Given the description of an element on the screen output the (x, y) to click on. 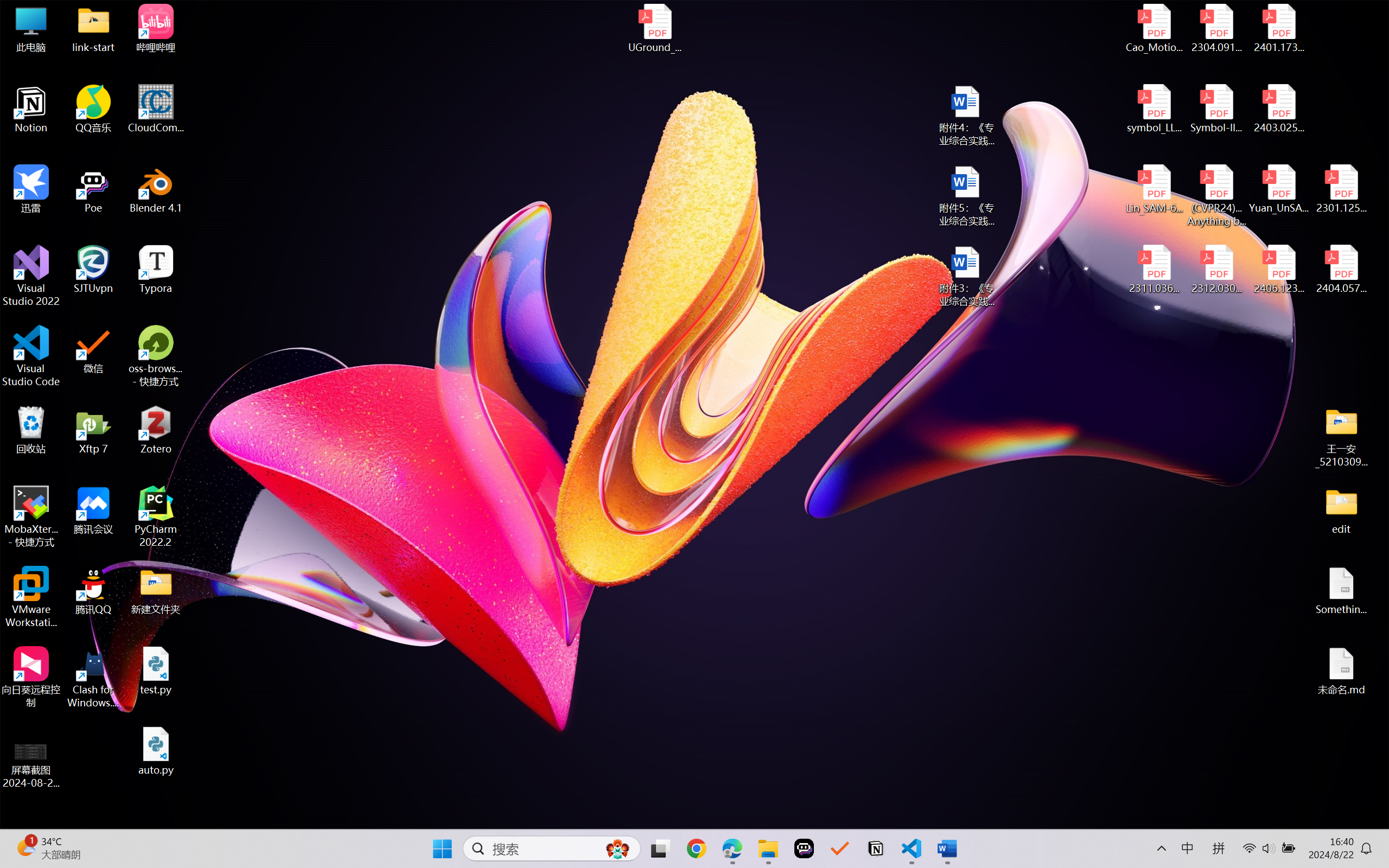
Visual Studio 2022 (31, 276)
Visual Studio Code (31, 355)
Xftp 7 (93, 430)
2312.03032v2.pdf (1216, 269)
SJTUvpn (93, 269)
test.py (156, 670)
Google Chrome (696, 848)
VMware Workstation Pro (31, 597)
